Given the description of an element on the screen output the (x, y) to click on. 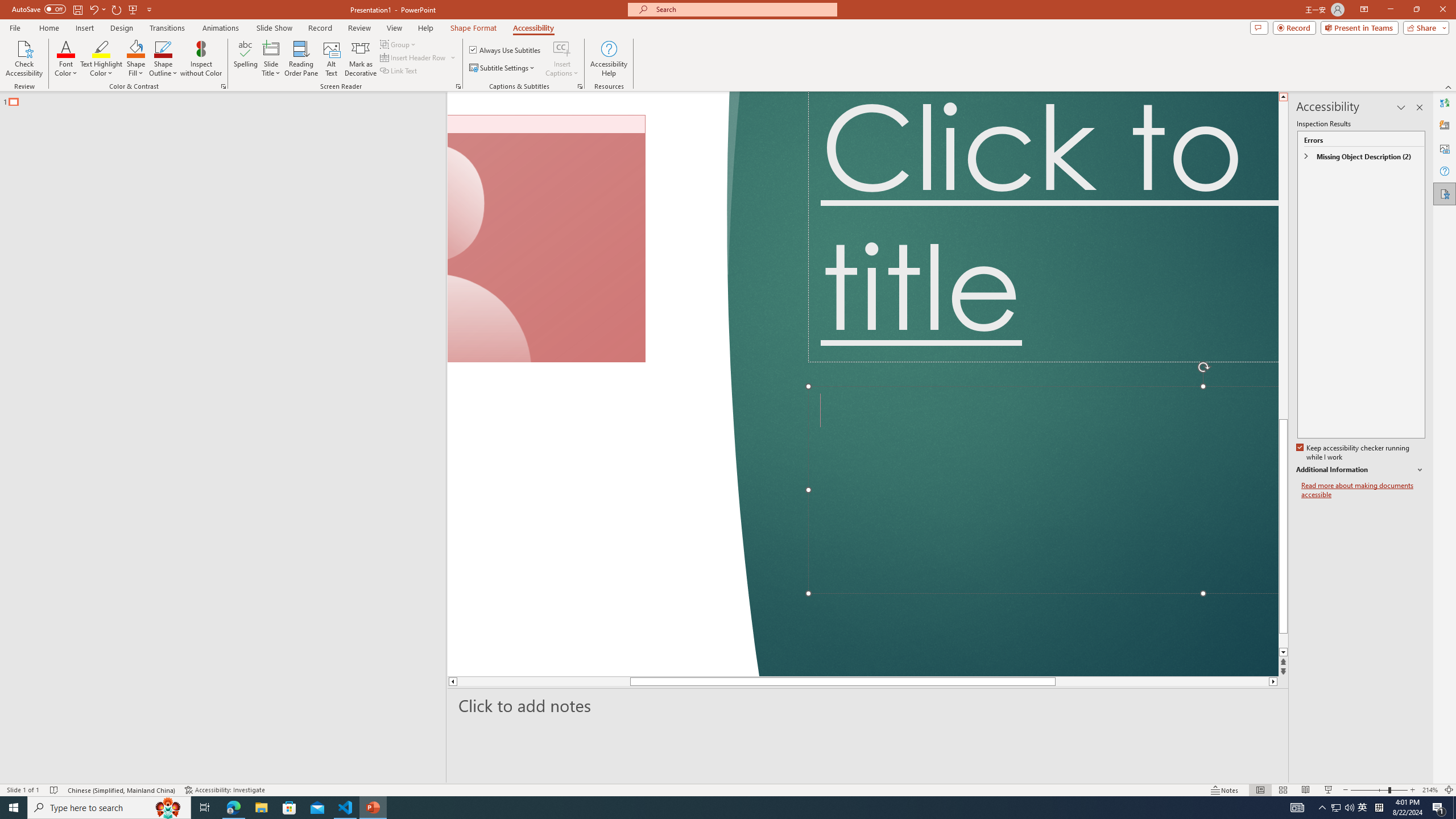
Check Accessibility (23, 58)
Spelling... (245, 58)
Reading Order Pane (301, 58)
Insert Captions (561, 58)
Shape Outline Blue, Accent 1 (163, 48)
Keep accessibility checker running while I work (1353, 452)
Subtitle Settings (502, 67)
